Given the description of an element on the screen output the (x, y) to click on. 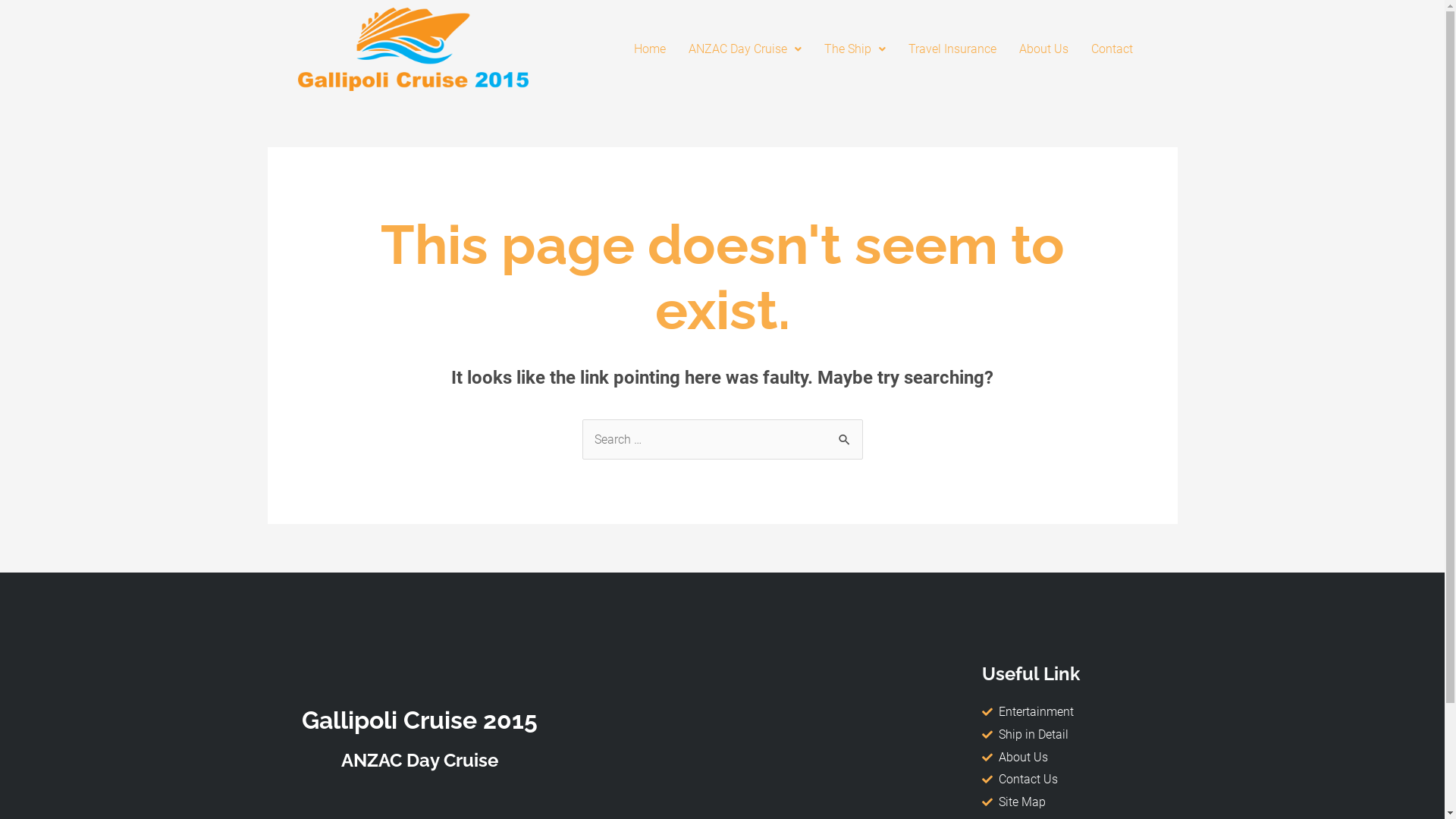
The Ship Element type: text (854, 48)
Home Element type: text (649, 48)
Ship in Detail Element type: text (1067, 734)
ANZAC Day Cruise Element type: text (744, 48)
Search Element type: text (845, 434)
Travel Insurance Element type: text (952, 48)
Contact Us Element type: text (1067, 779)
About Us Element type: text (1067, 757)
About Us Element type: text (1043, 48)
Entertainment Element type: text (1067, 711)
Gallipoli Cruise 2015 Element type: text (419, 720)
Site Map Element type: text (1067, 801)
Contact Element type: text (1111, 48)
